Given the description of an element on the screen output the (x, y) to click on. 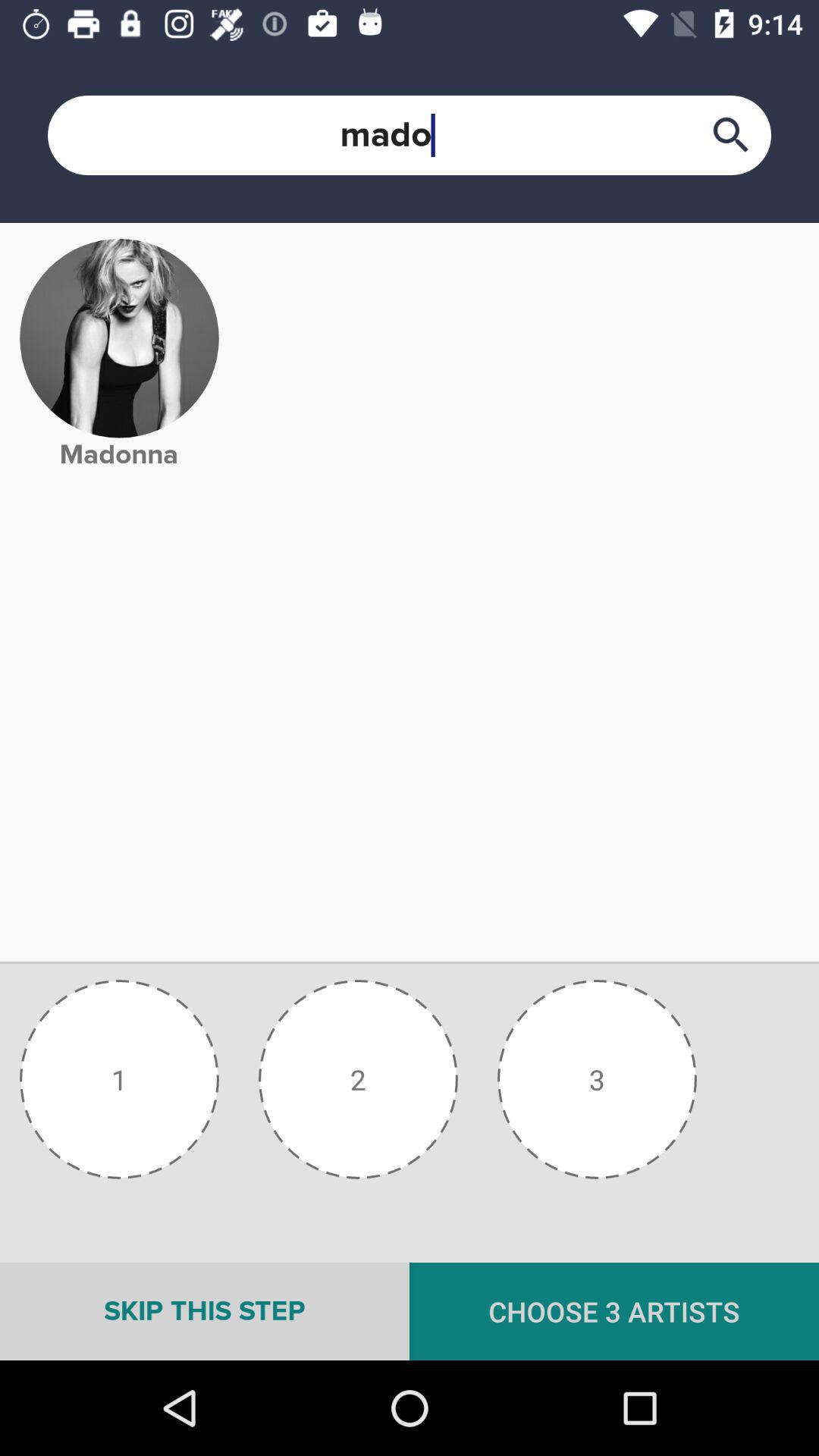
select the first circle image (119, 1079)
select the text box which is above the image (409, 135)
click on the dotted circle which has 2 on it (357, 1079)
